Given the description of an element on the screen output the (x, y) to click on. 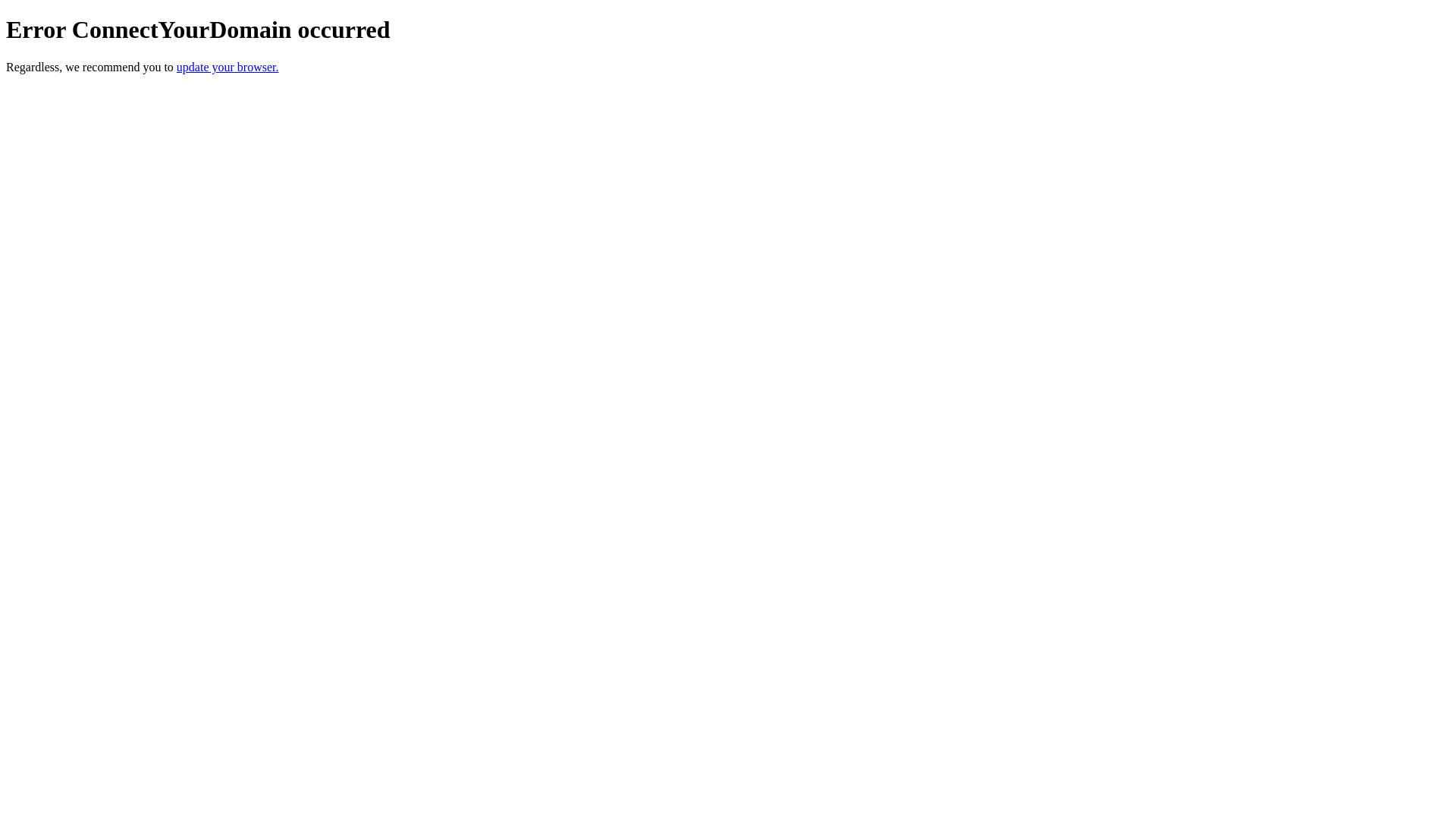
update your browser. Element type: text (227, 66)
